Given the description of an element on the screen output the (x, y) to click on. 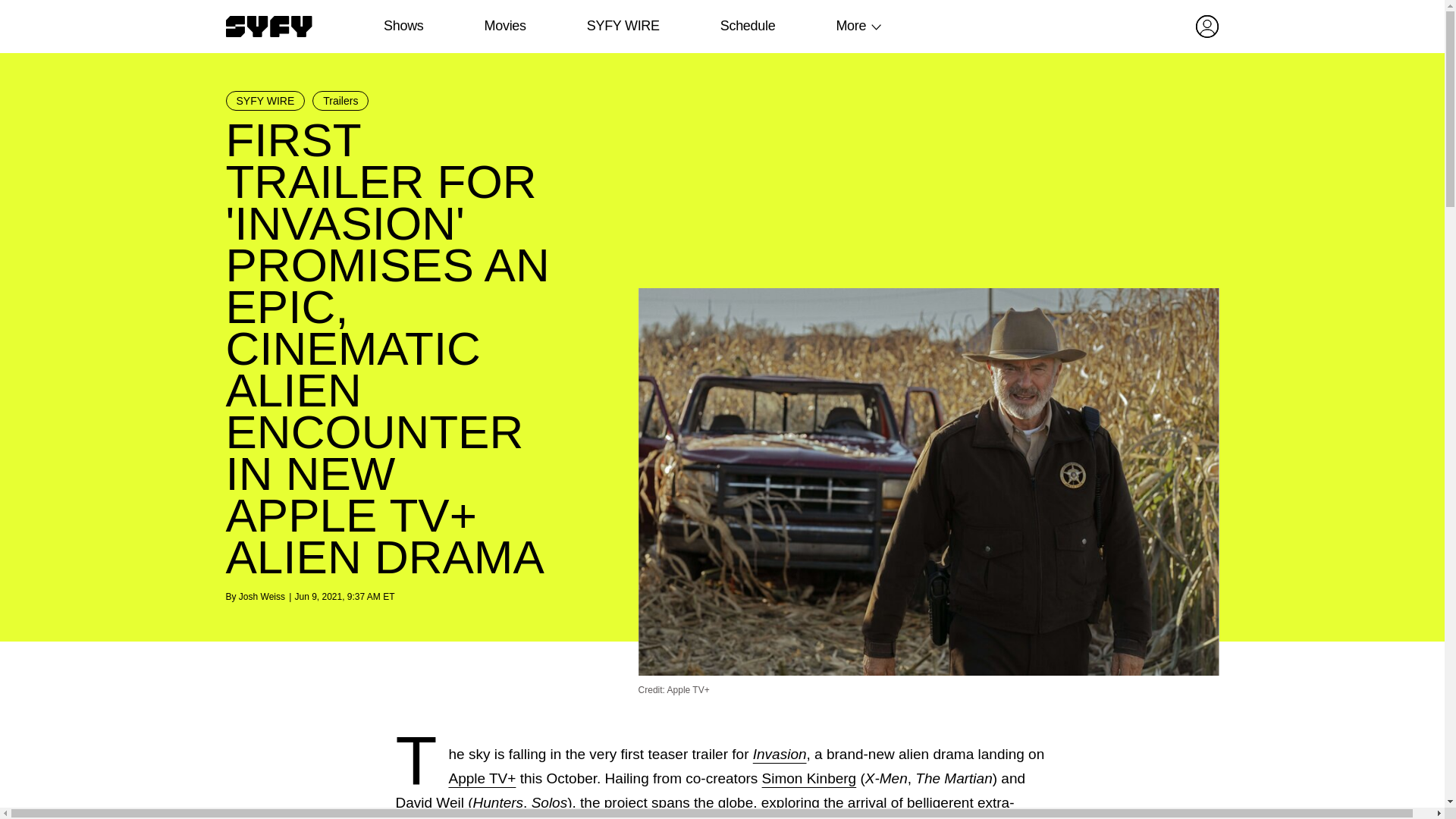
Solos (549, 802)
SYFY WIRE (265, 100)
More (850, 26)
Invasion (779, 754)
Simon Kinberg (809, 778)
Movies (504, 26)
Shows (403, 26)
Trailers (340, 100)
Josh Weiss (261, 596)
SYFY WIRE (622, 26)
Schedule (746, 26)
